Given the description of an element on the screen output the (x, y) to click on. 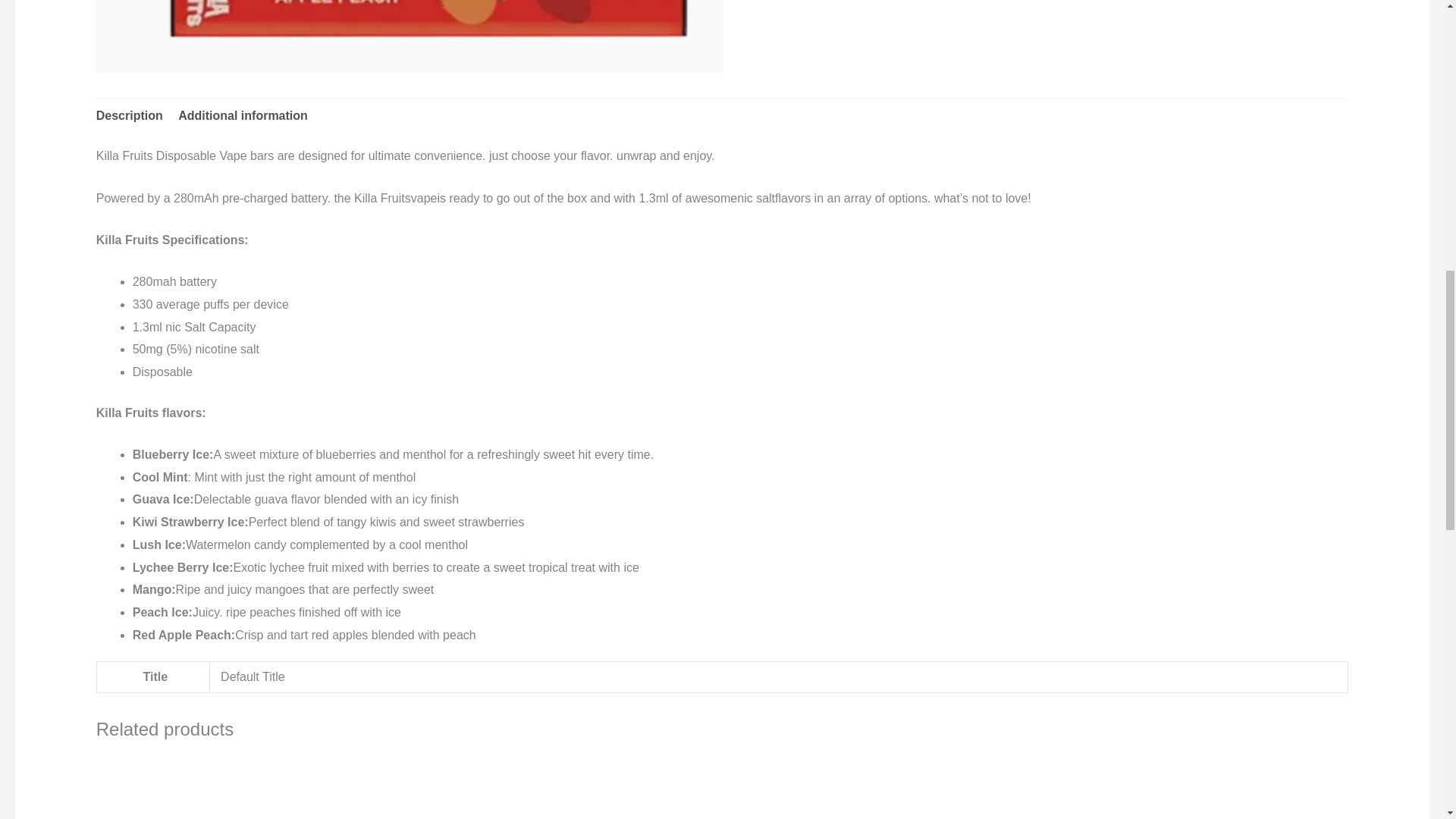
BAB0E391-D5BD-44b0-AB30-10CDC23F3A9C.png (409, 36)
